Given the description of an element on the screen output the (x, y) to click on. 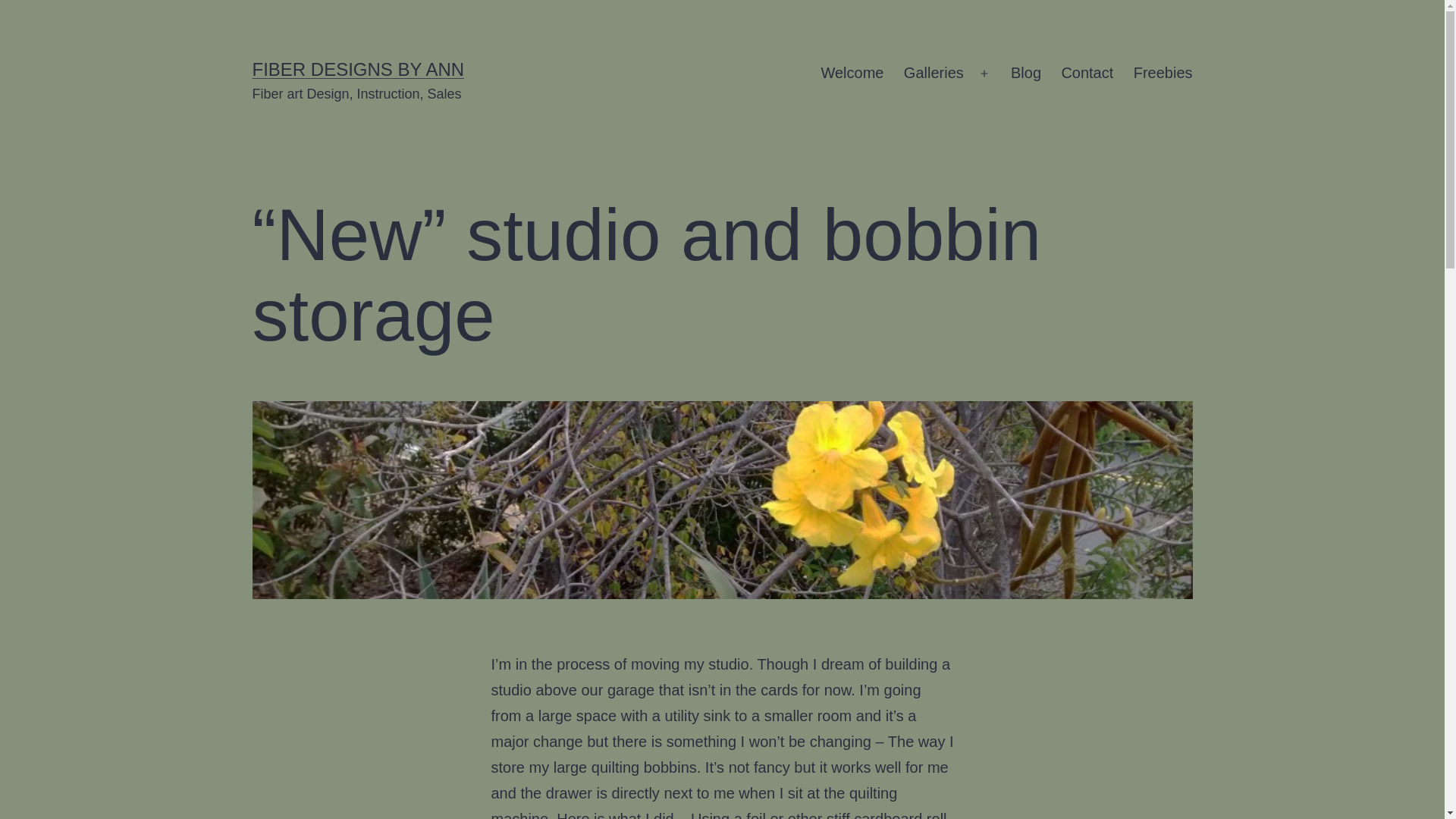
Welcome (851, 73)
Galleries (933, 73)
Go to patterns (1163, 73)
Blog (1026, 73)
Contact (1086, 73)
Freebies (1163, 73)
FIBER DESIGNS BY ANN (357, 68)
